Given the description of an element on the screen output the (x, y) to click on. 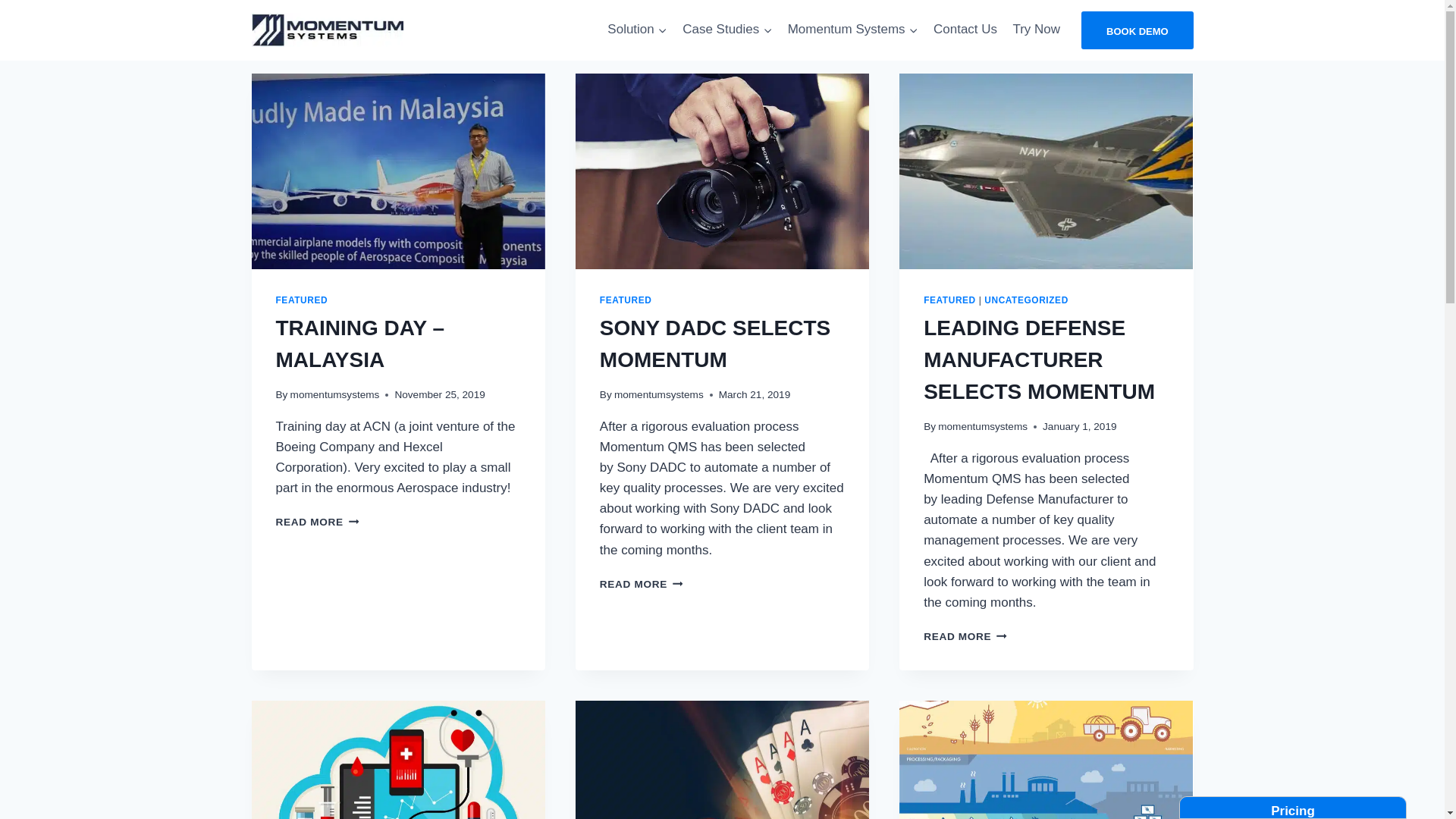
LEADING DEFENSE MANUFACTURER SELECTS MOMENTUM Element type: text (1038, 359)
momentumsystems Element type: text (334, 394)
momentumsystems Element type: text (982, 426)
FEATURED Element type: text (302, 299)
Momentum Systems Element type: text (852, 29)
Skip to content Element type: text (0, 0)
UNCATEGORIZED Element type: text (1026, 299)
Solution Element type: text (636, 29)
momentumsystems Element type: text (658, 394)
READ MORE
LEADING DEFENSE MANUFACTURER SELECTS MOMENTUM Element type: text (965, 636)
READ MORE
SONY DADC SELECTS MOMENTUM Element type: text (641, 583)
FEATURED Element type: text (625, 299)
Case Studies Element type: text (727, 29)
Contact Us Element type: text (964, 29)
BOOK DEMO Element type: text (1136, 31)
FEATURED Element type: text (949, 299)
SONY DADC SELECTS MOMENTUM Element type: text (714, 343)
Try Now Element type: text (1035, 29)
